Given the description of an element on the screen output the (x, y) to click on. 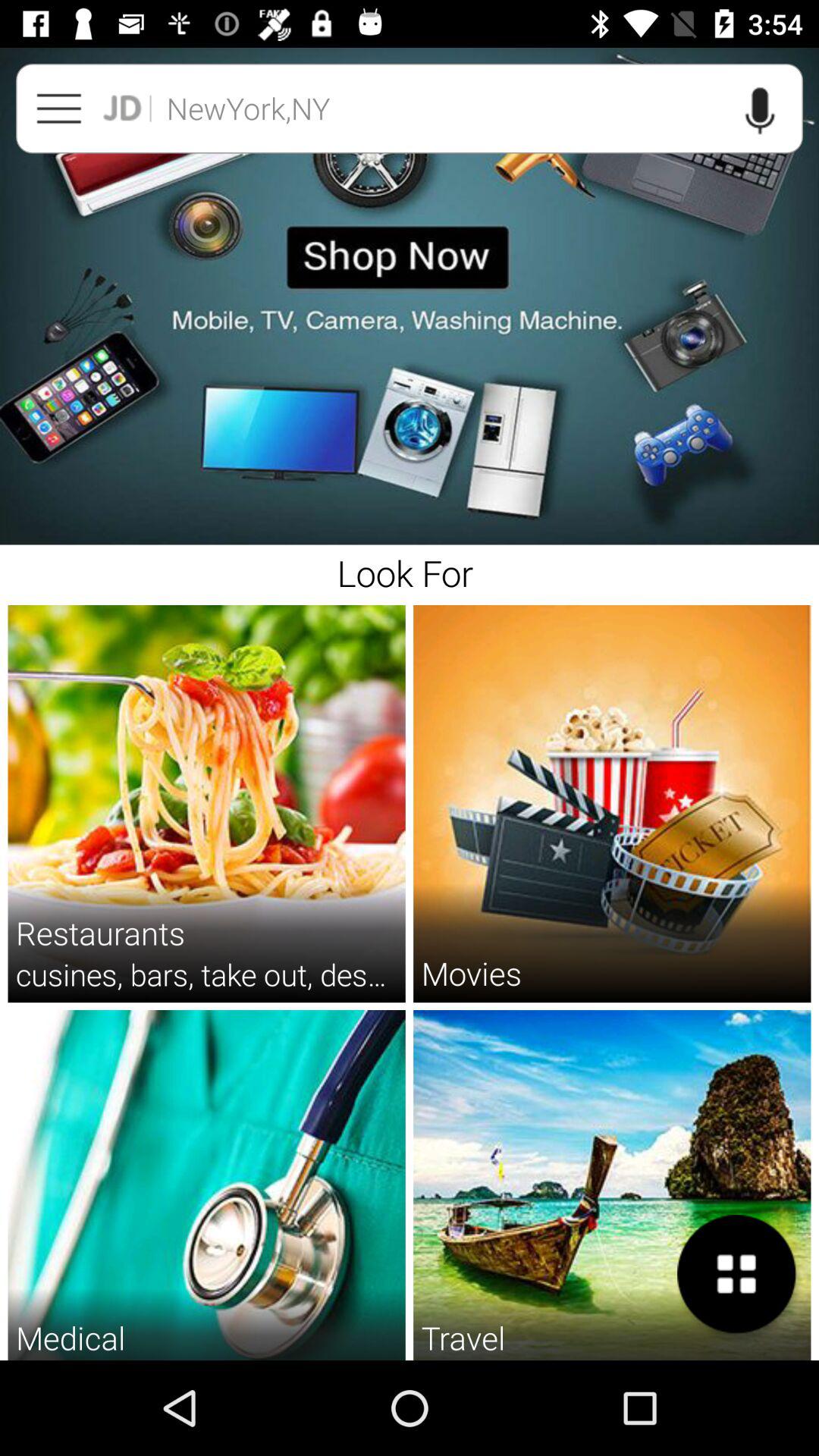
select icon to the right of the travel item (737, 1274)
